Given the description of an element on the screen output the (x, y) to click on. 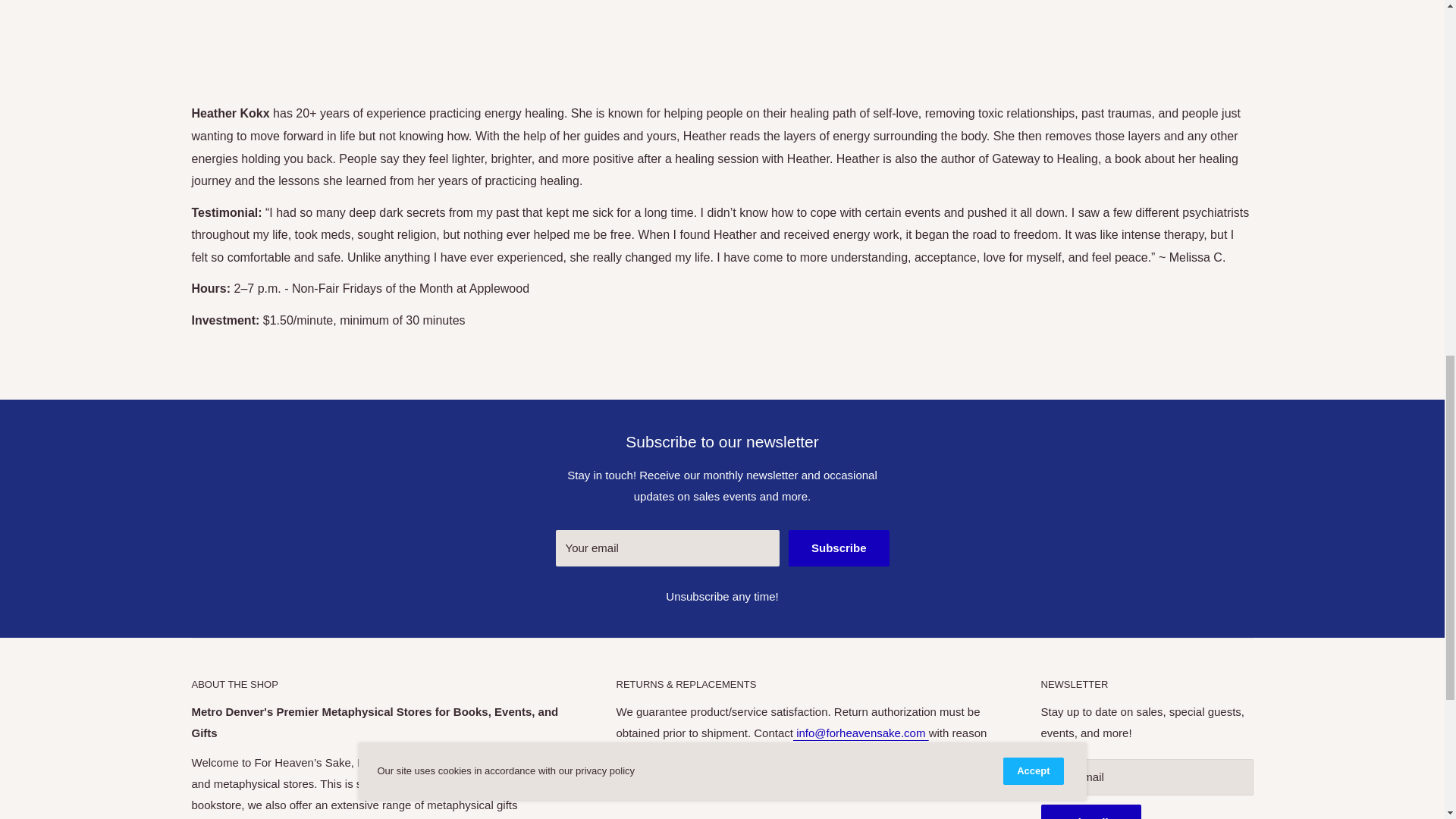
YouTube video player (721, 33)
Privacy Policy (662, 783)
